Given the description of an element on the screen output the (x, y) to click on. 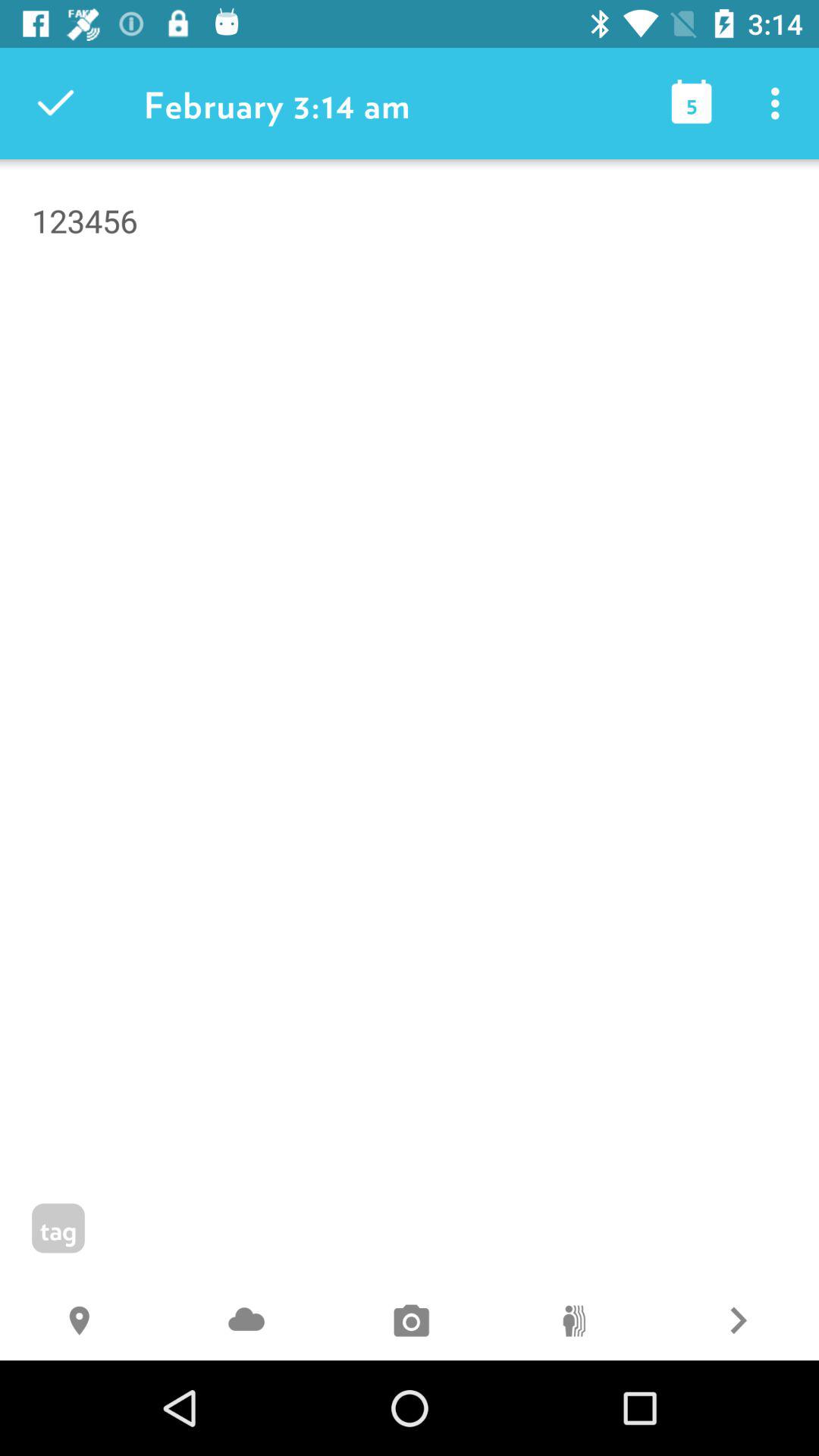
select the item next to the l icon (573, 1322)
